Given the description of an element on the screen output the (x, y) to click on. 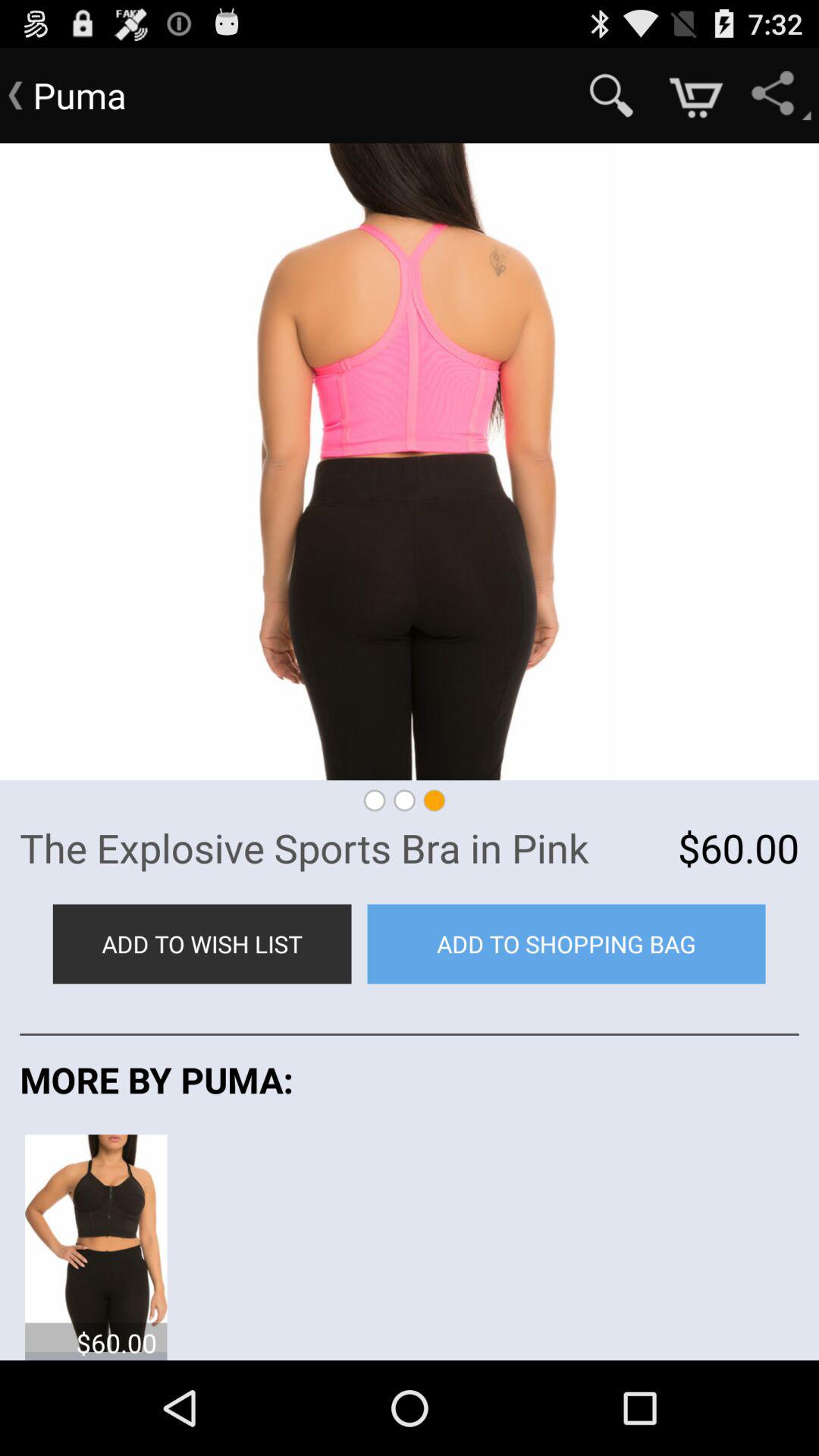
turn off the icon below the more by puma: item (96, 1241)
